Given the description of an element on the screen output the (x, y) to click on. 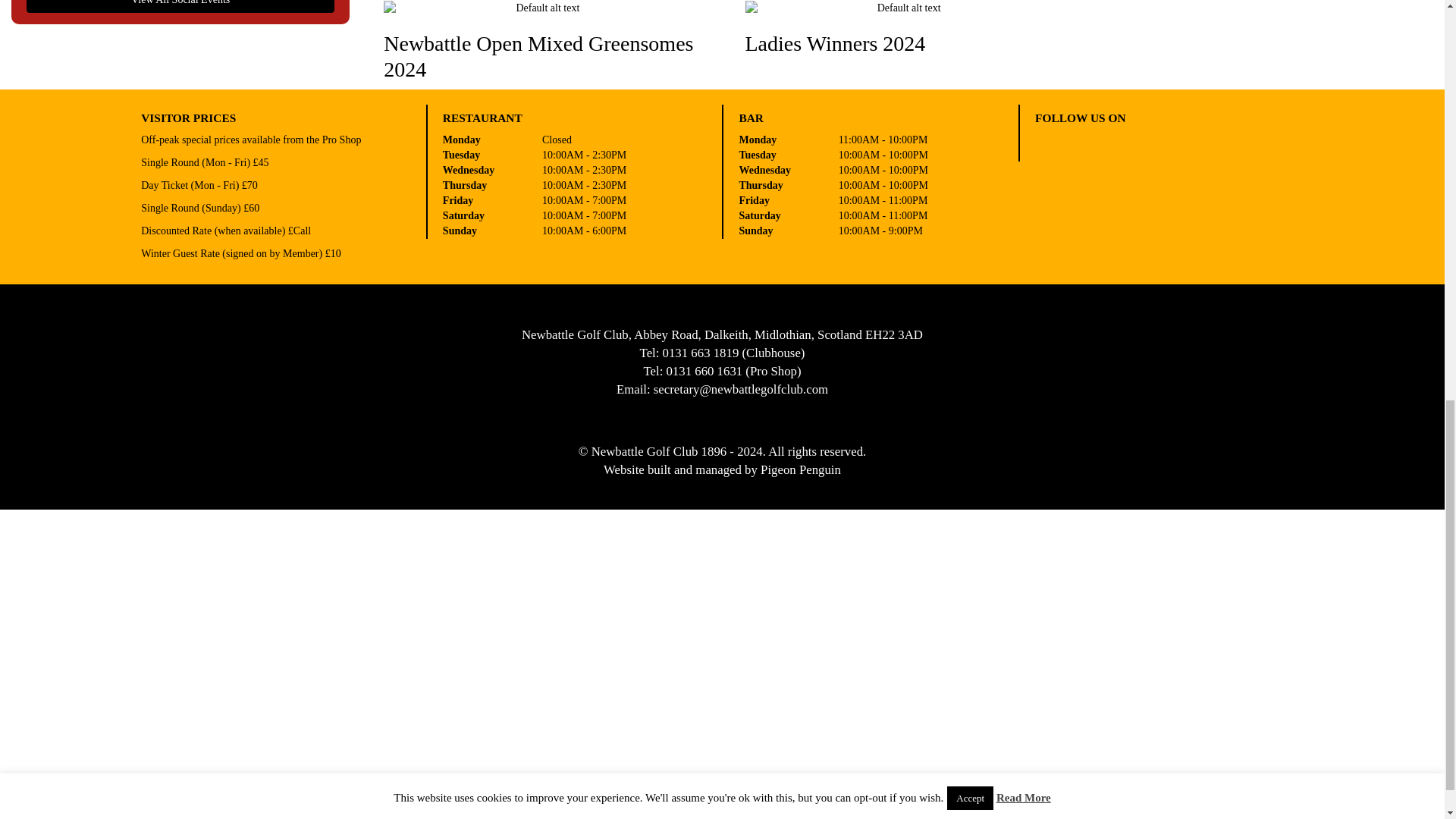
Newbattle Open Mixed Greensomes 2024 (541, 40)
View All Social Events (180, 6)
